Given the description of an element on the screen output the (x, y) to click on. 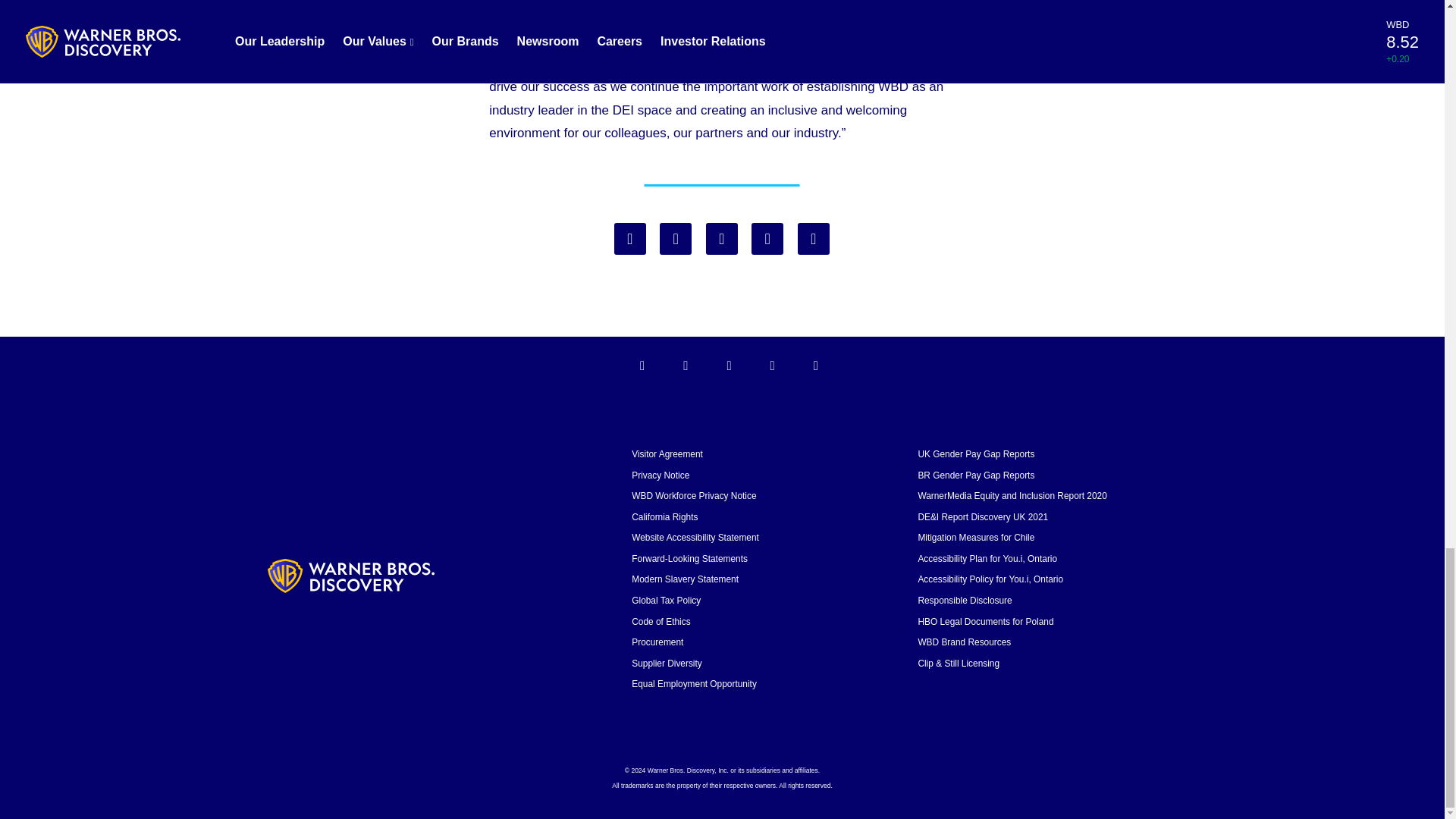
Forward-Looking Statements (689, 558)
Supplier Diversity (666, 663)
Procurement (656, 642)
California Rights (664, 516)
BR Gender Pay Gap Reports (975, 475)
Mitigation Measures for Chile (975, 537)
Website Accessibility Statement (694, 537)
Code of Ethics (660, 621)
Modern Slavery Statement (684, 579)
UK Gender Pay Gap Reports (975, 453)
WBD Workforce Privacy Notice (693, 495)
Accessibility Plan for You.i, Ontario (987, 558)
Equal Employment Opportunity (694, 683)
Visitor Agreement (667, 453)
Global Tax Policy (665, 600)
